Given the description of an element on the screen output the (x, y) to click on. 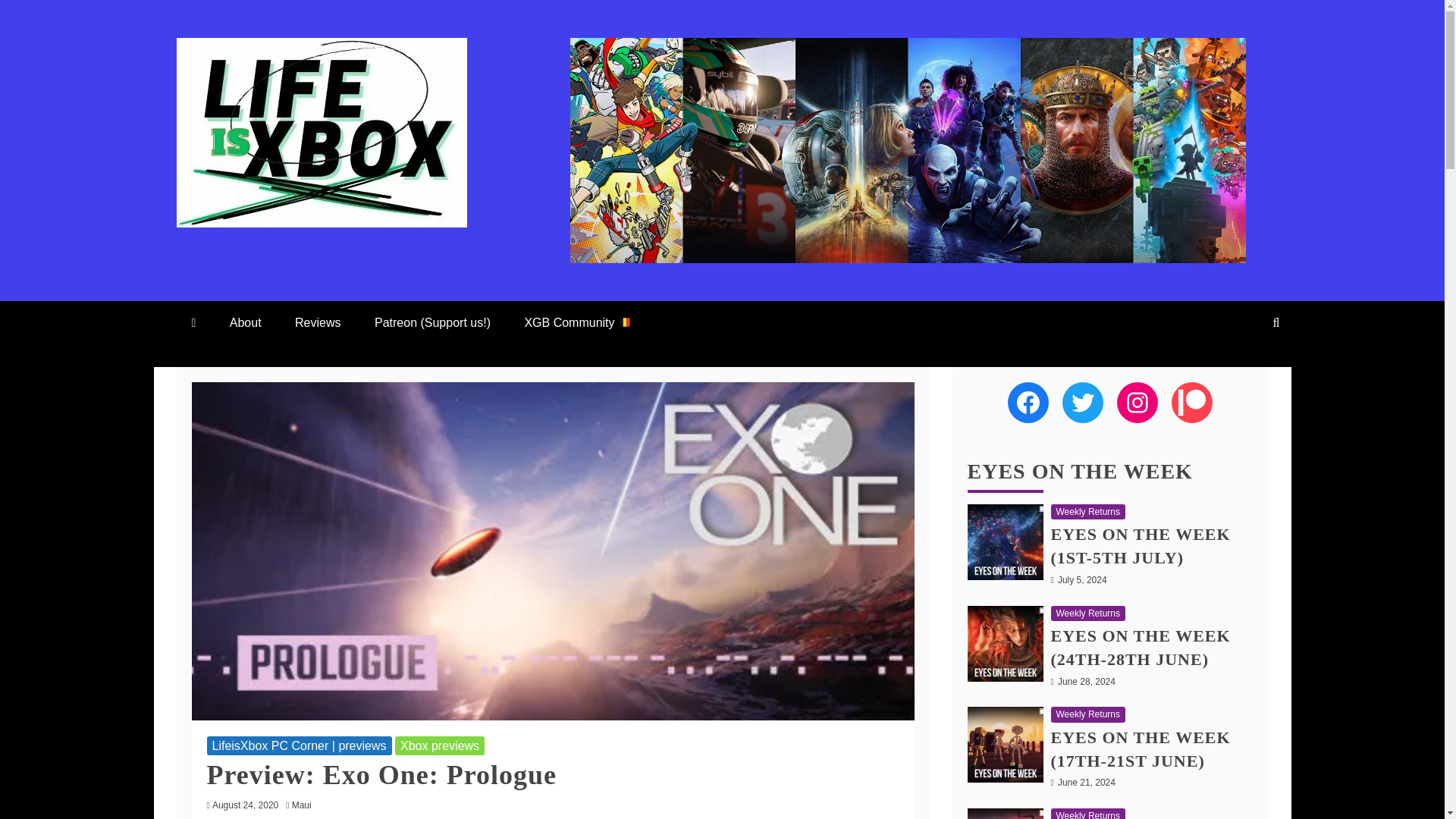
Maui (305, 805)
Reviews (317, 322)
XGB Community (577, 322)
About (245, 322)
August 24, 2020 (245, 805)
Xbox previews (439, 745)
